Given the description of an element on the screen output the (x, y) to click on. 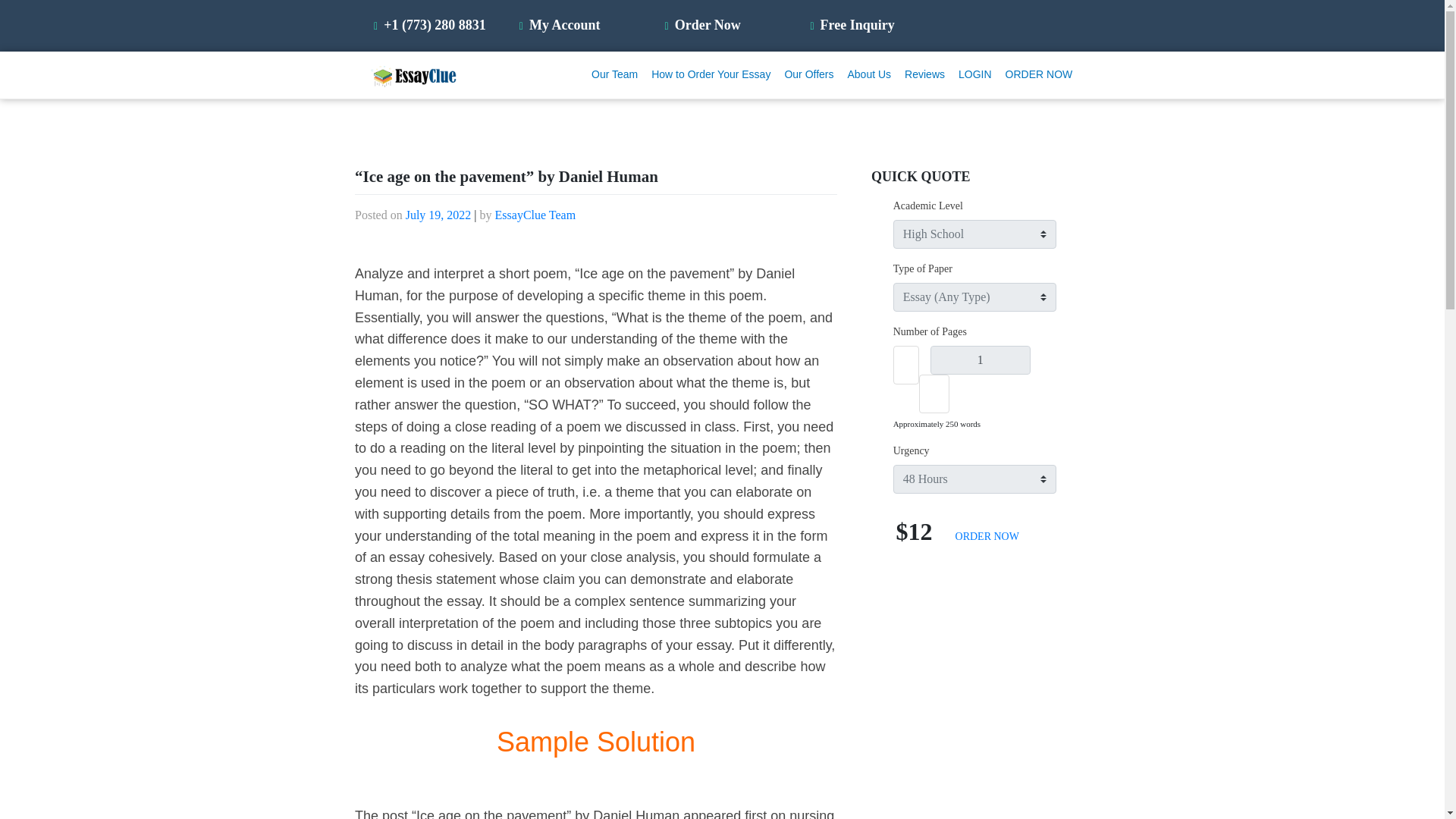
Our Offers (809, 74)
Our Team (615, 74)
How to Order Your Essay (711, 74)
My Account (560, 24)
LOGIN (975, 74)
Our Offers (809, 74)
LOGIN (975, 74)
ORDER NOW (987, 536)
How to Order Your Essay (711, 74)
Free Inquiry (854, 24)
Order Now (704, 24)
1 (980, 359)
ORDER NOW (1039, 74)
ORDER NOW (1039, 74)
Our Team (615, 74)
